Given the description of an element on the screen output the (x, y) to click on. 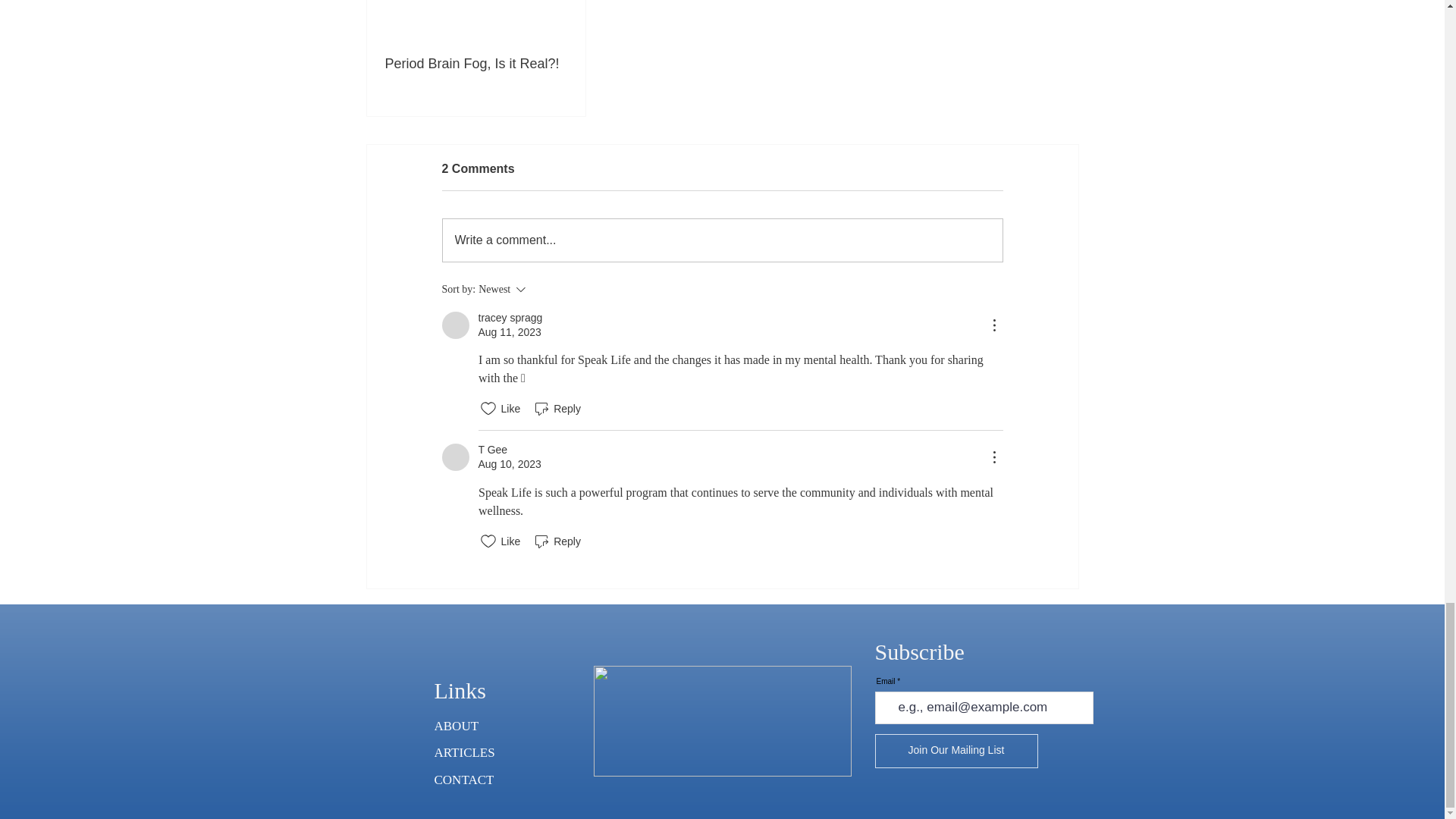
Period Brain Fog, Is it Real?! (476, 64)
T Gee (454, 456)
tracey spragg (454, 325)
Write a comment... (722, 240)
